Given the description of an element on the screen output the (x, y) to click on. 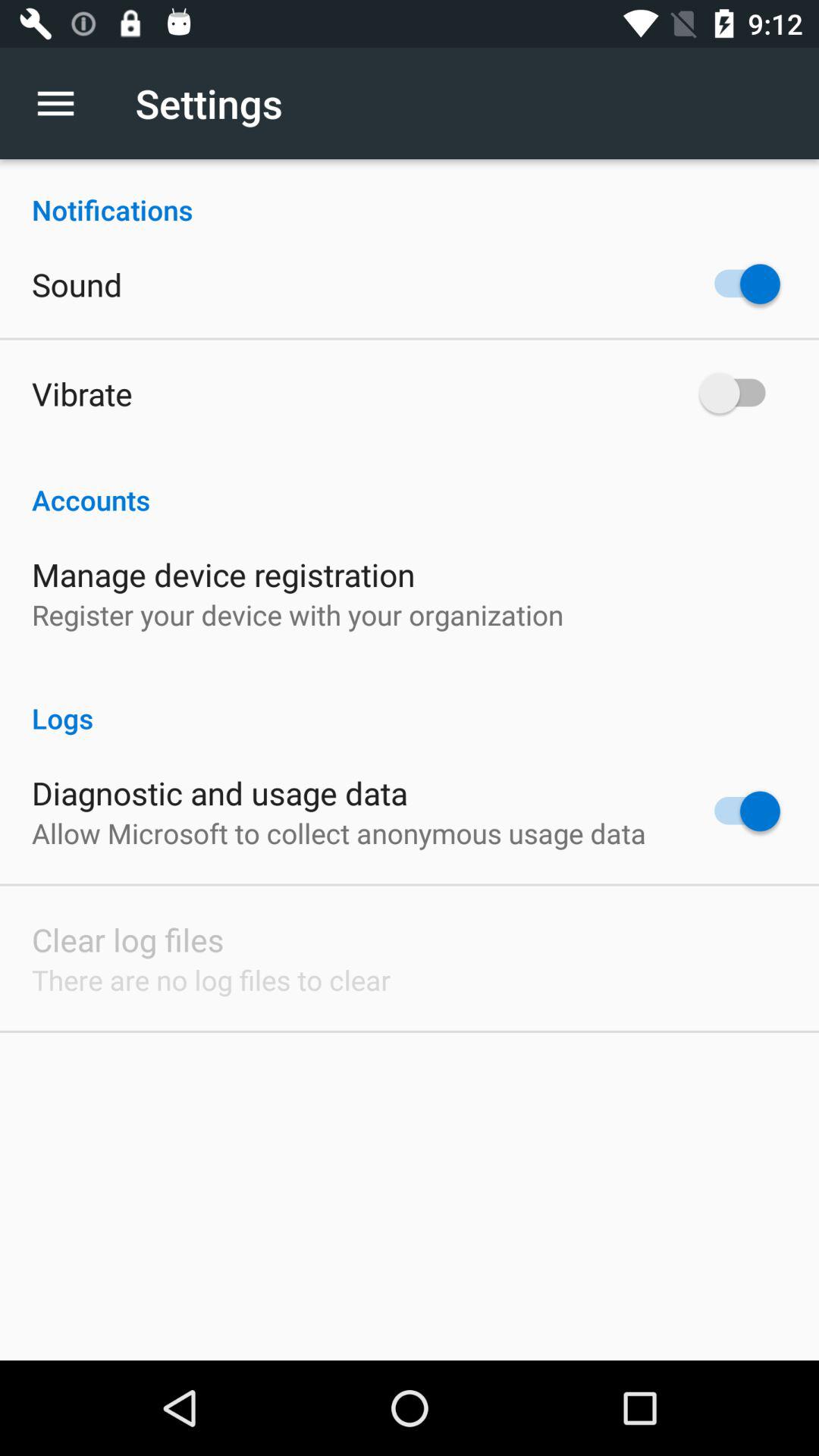
choose the app above manage device registration icon (409, 483)
